Given the description of an element on the screen output the (x, y) to click on. 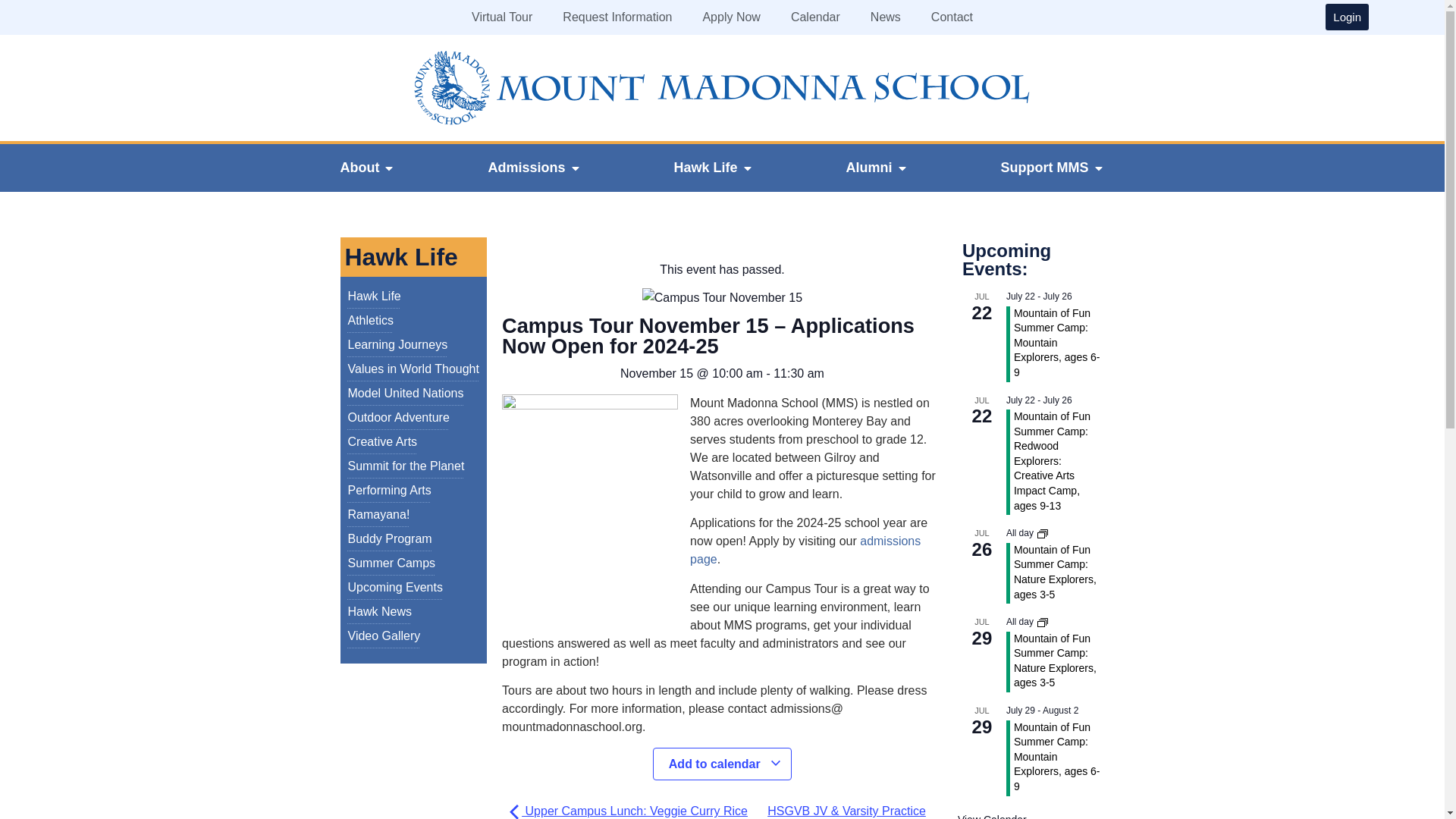
Virtual Tour (502, 17)
Login (1346, 17)
Calendar (816, 17)
Contact (951, 17)
News (885, 17)
Hawk Life (704, 168)
Event Series (1042, 622)
Apply Now (730, 17)
Alumni (868, 168)
About (358, 168)
Admissions (525, 168)
Event Series (1042, 533)
Request Information (617, 17)
